Given the description of an element on the screen output the (x, y) to click on. 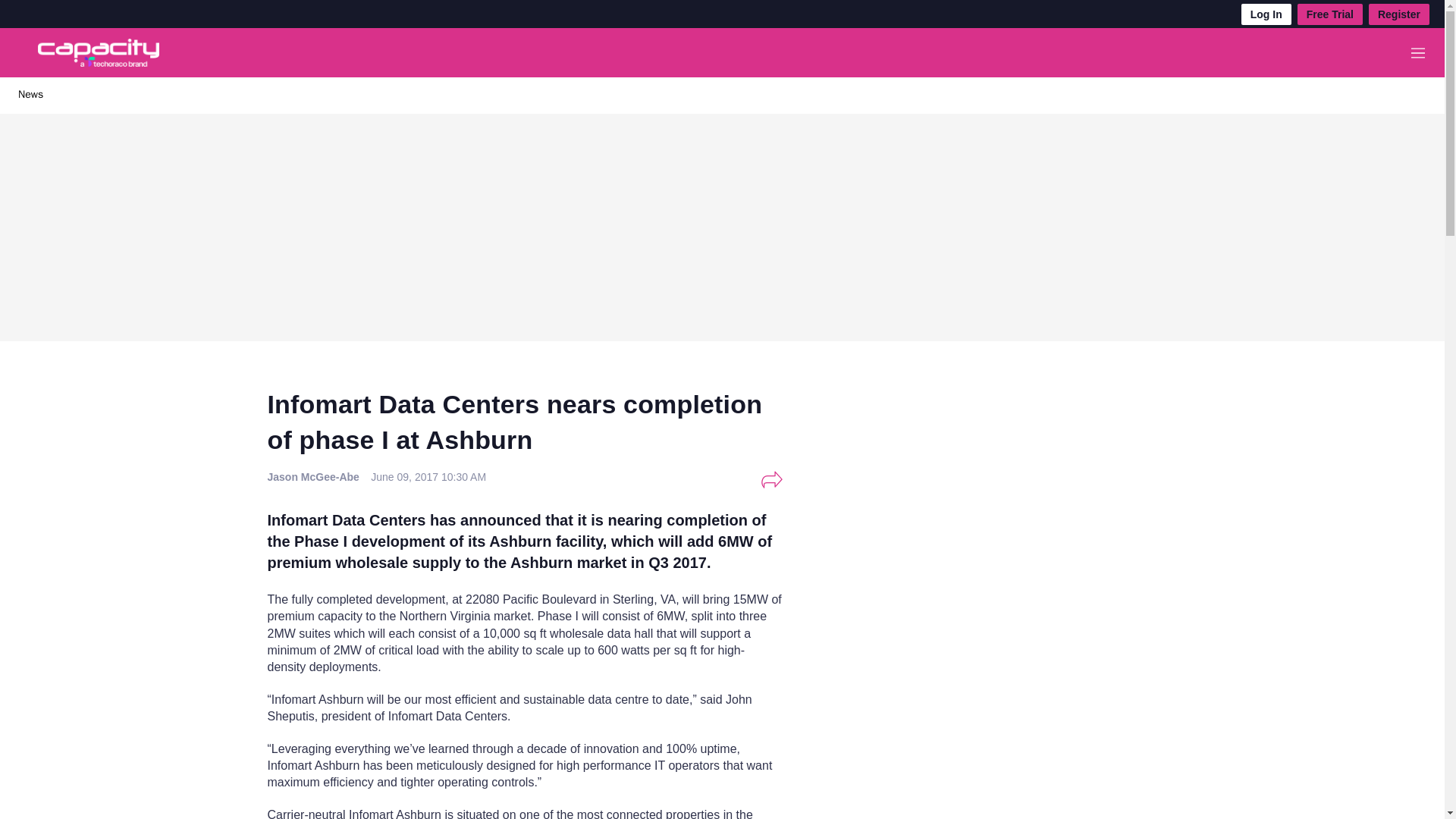
Register (1398, 13)
Share (771, 479)
Free Trial (1329, 13)
Log In (1266, 13)
